Given the description of an element on the screen output the (x, y) to click on. 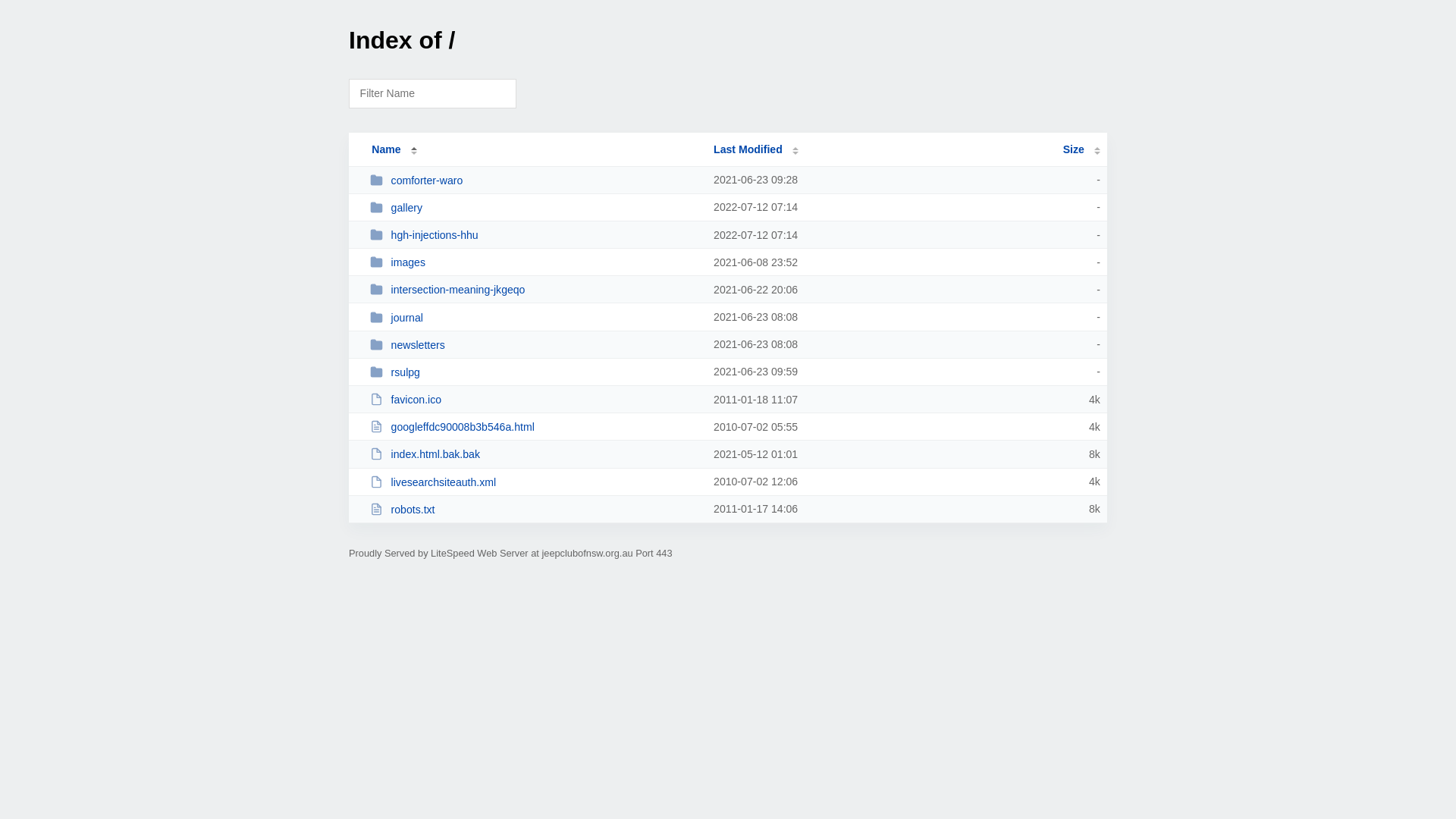
robots.txt Element type: text (534, 508)
index.html.bak.bak Element type: text (534, 453)
Last Modified Element type: text (755, 149)
livesearchsiteauth.xml Element type: text (534, 481)
googleffdc90008b3b546a.html Element type: text (534, 426)
intersection-meaning-jkgeqo Element type: text (534, 288)
Size Element type: text (1081, 149)
Name Element type: text (385, 149)
images Element type: text (534, 261)
gallery Element type: text (534, 206)
comforter-waro Element type: text (534, 179)
rsulpg Element type: text (534, 371)
newsletters Element type: text (534, 344)
favicon.ico Element type: text (534, 398)
hgh-injections-hhu Element type: text (534, 234)
journal Element type: text (534, 316)
